Given the description of an element on the screen output the (x, y) to click on. 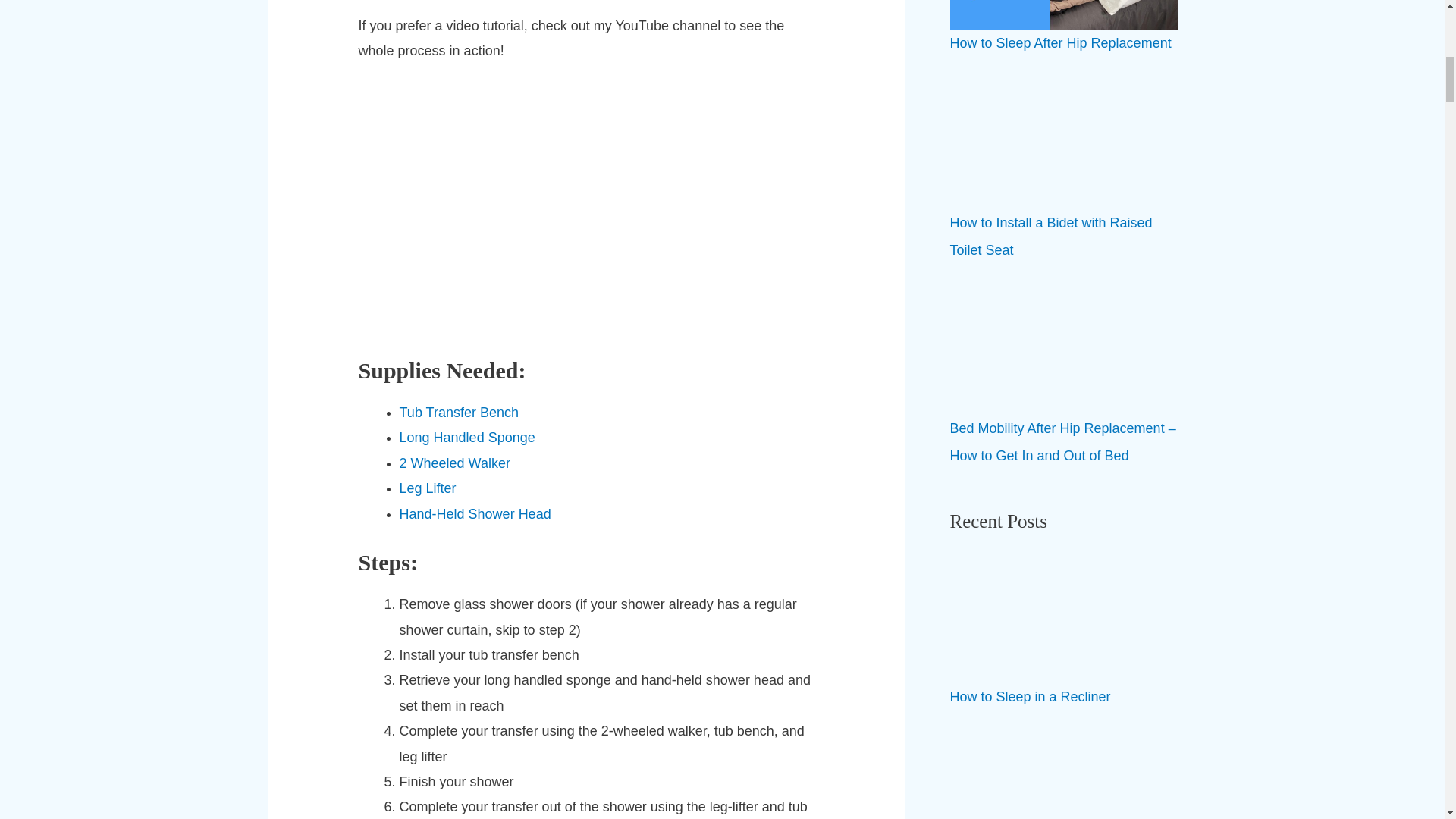
How to Install a Bidet with Raised Toilet Seat (1050, 236)
Leg Lifter (427, 488)
2 Wheeled Walker (454, 462)
Tub Transfer Bench (458, 412)
Hand-Held Shower Head (474, 513)
Long Handled Sponge (466, 437)
How to Sleep After Hip Replacement (1059, 43)
